Given the description of an element on the screen output the (x, y) to click on. 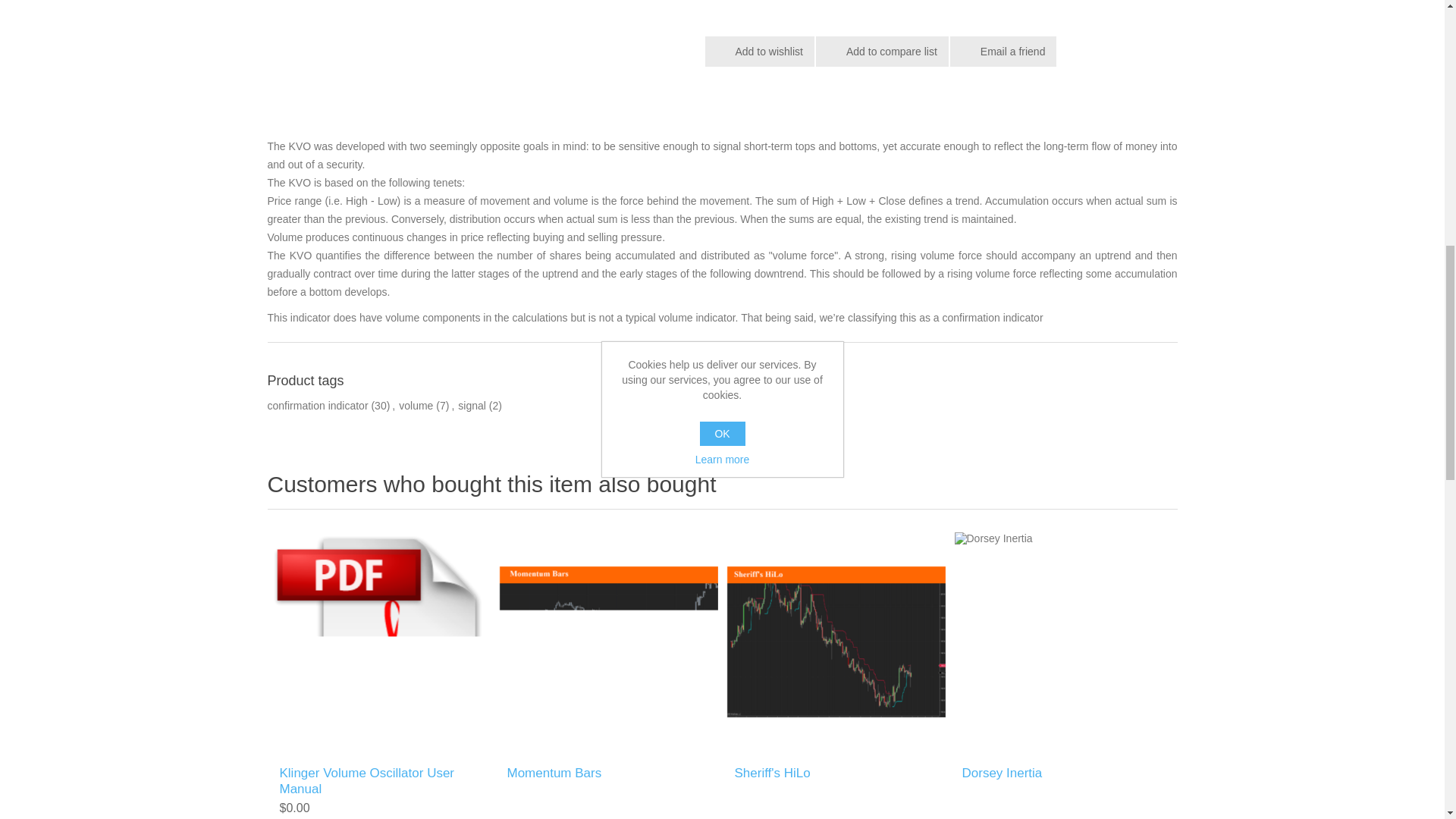
Show details for Momentum Bars (608, 641)
Sheriff's HiLo indicator for NinjaTrader 8 (835, 641)
Show details for Momentum Bars (608, 641)
Show details for Klinger Volume Oscillator User Manual (379, 641)
Picture of Klinger Volume Oscillator (476, 9)
Sheriff's HiLo indicator for NinjaTrader 8 (835, 641)
PayPal (779, 9)
